Given the description of an element on the screen output the (x, y) to click on. 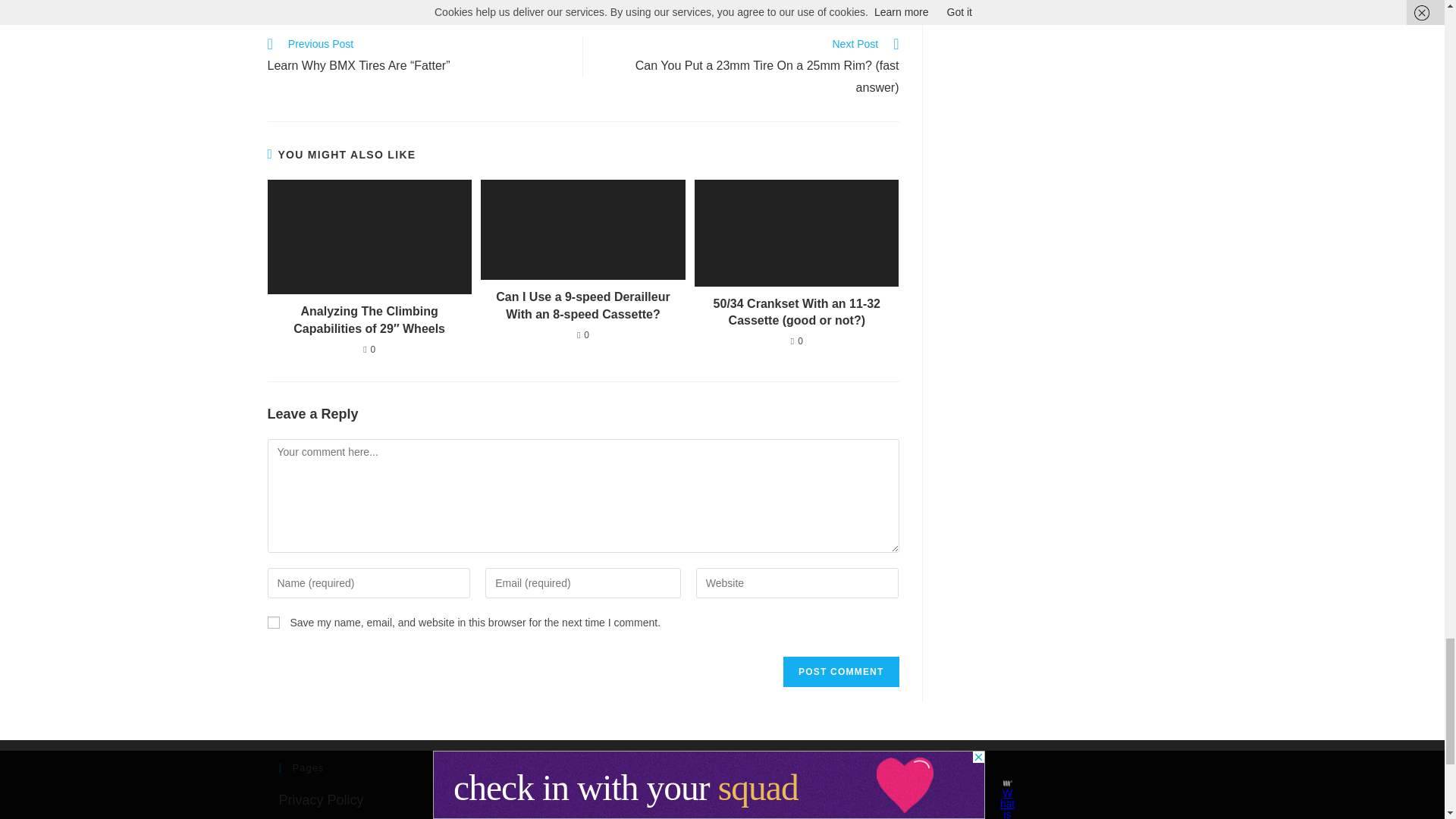
yes (272, 622)
Post Comment (840, 671)
Can I Use a 9-speed Derailleur With an 8-speed Cassette? (582, 305)
Post Comment (840, 671)
